Given the description of an element on the screen output the (x, y) to click on. 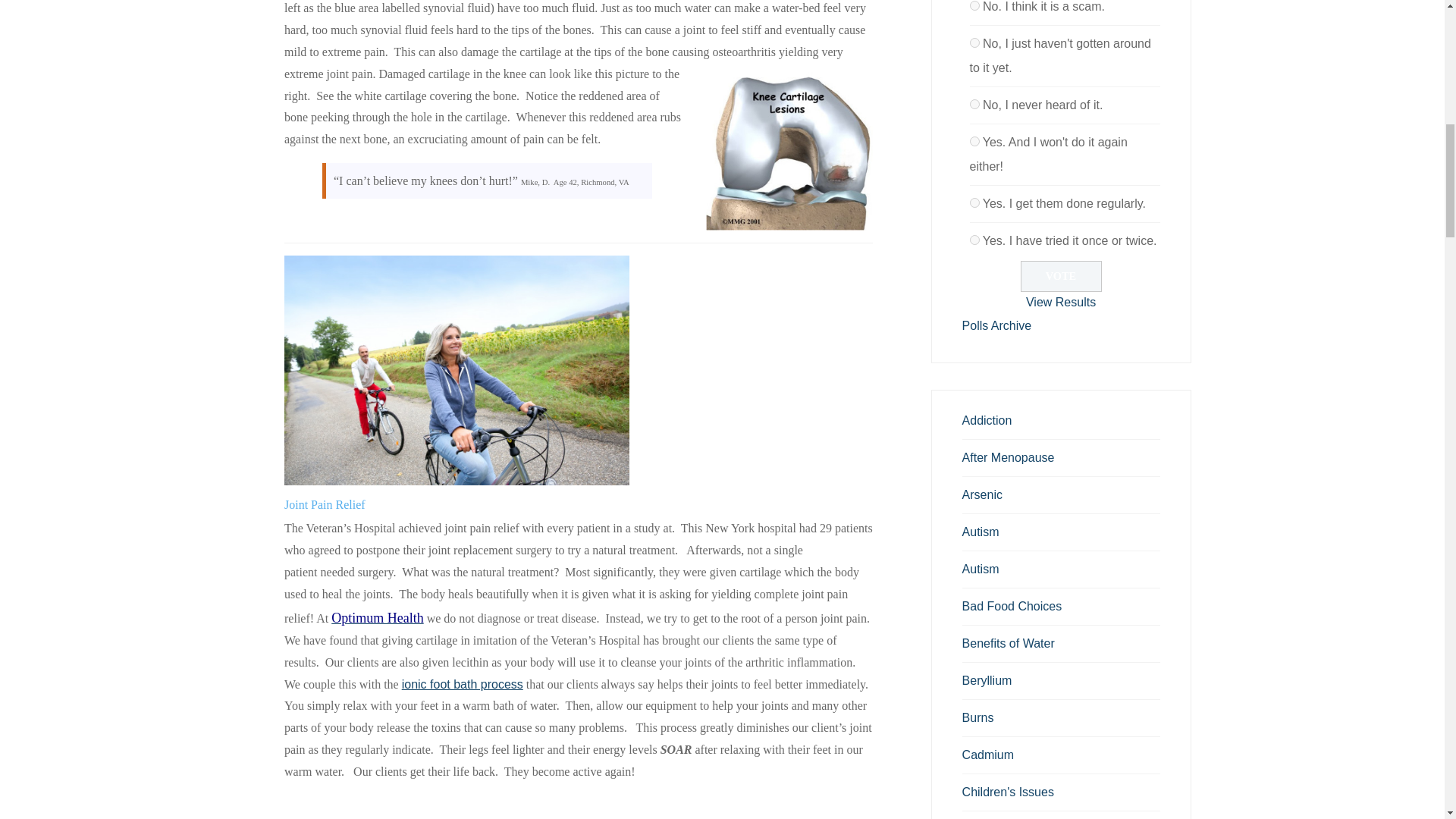
14 (974, 203)
13 (974, 141)
23 (974, 239)
View Results Of This Poll (1061, 301)
11 (974, 42)
12 (974, 103)
10 (974, 5)
   Vote    (1061, 276)
